Given the description of an element on the screen output the (x, y) to click on. 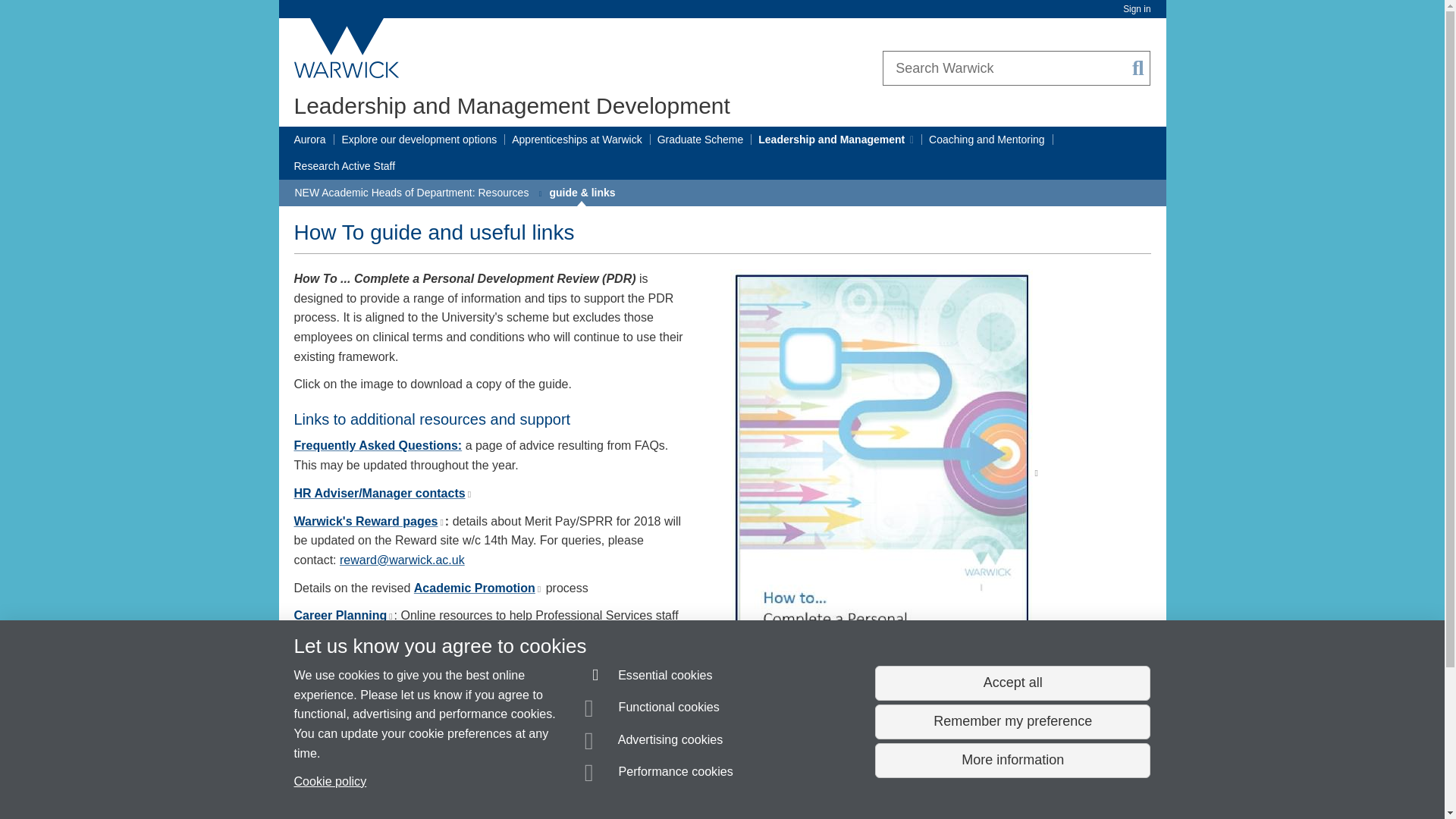
Explore our development options (419, 139)
Apprenticeships at Warwick (577, 139)
Sign in (1136, 9)
Research Active Staff (345, 166)
University of Warwick homepage (346, 48)
Aurora (310, 139)
Coaching and Mentoring (986, 139)
